Given the description of an element on the screen output the (x, y) to click on. 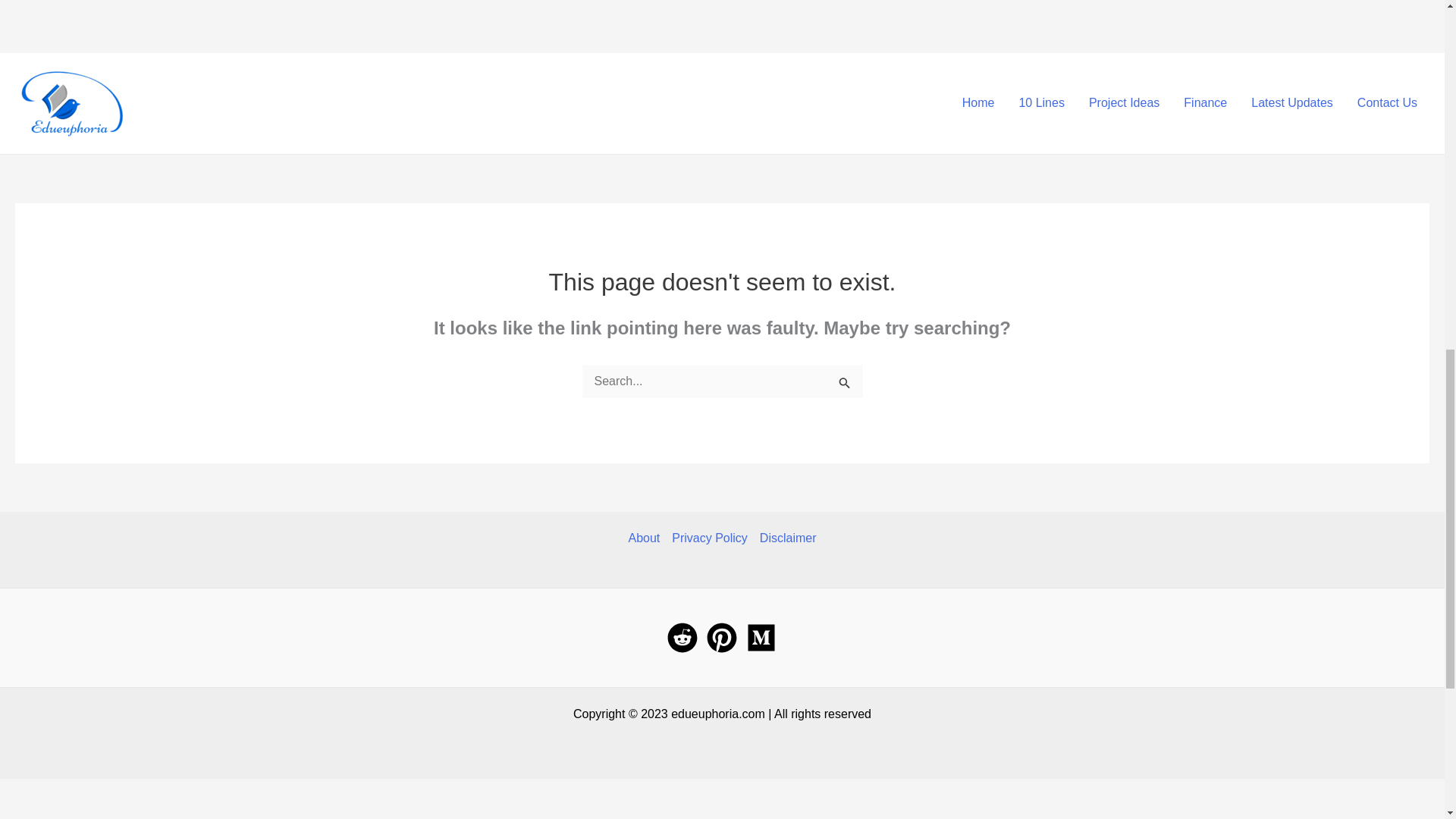
Advertisement (284, 22)
Disclaimer (785, 538)
About (646, 538)
Privacy Policy (709, 538)
Finance (1205, 103)
Contact Us (1387, 103)
Project Ideas (1124, 103)
Latest Updates (1292, 103)
Home (978, 103)
10 Lines (1041, 103)
